Given the description of an element on the screen output the (x, y) to click on. 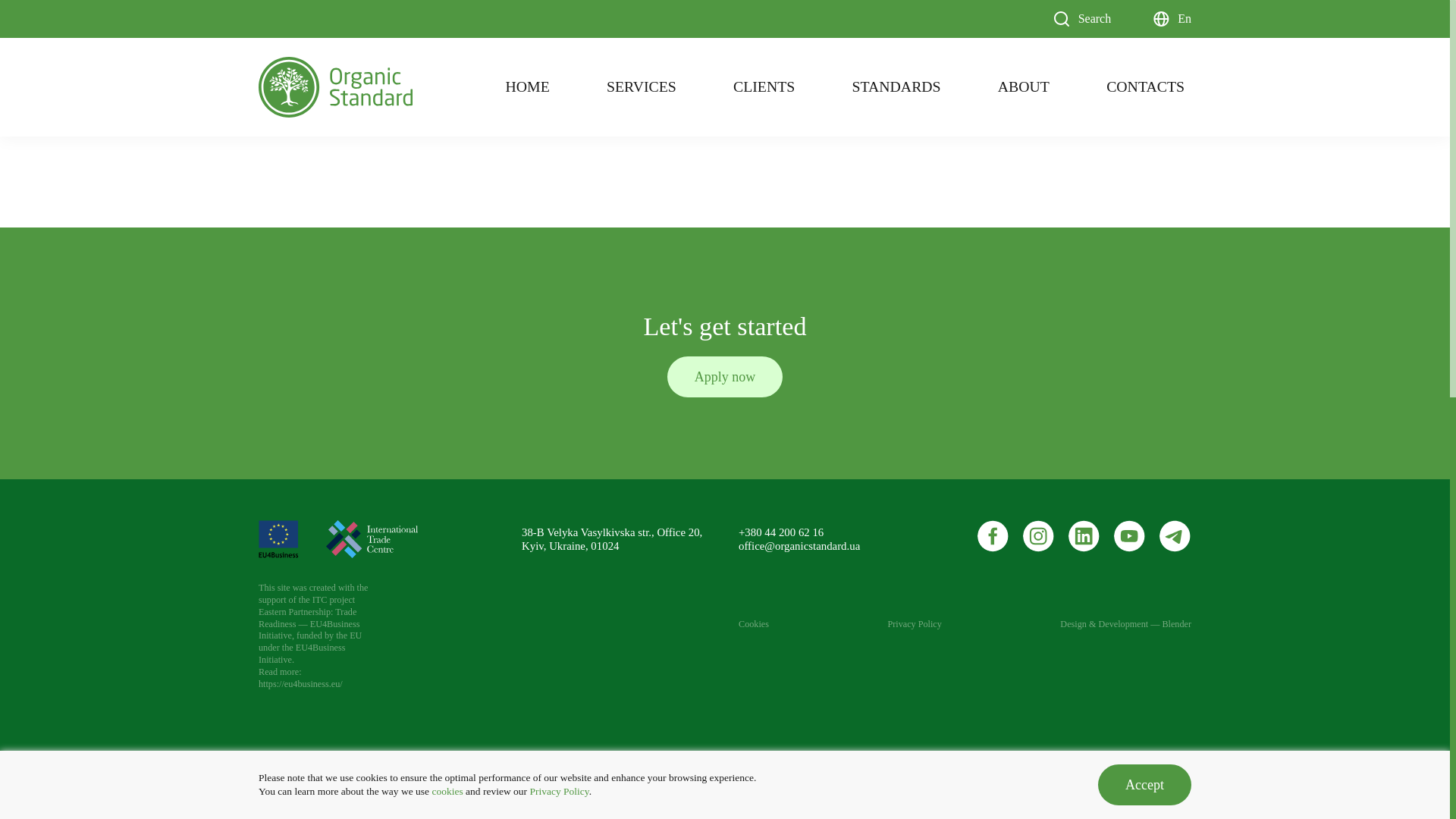
Import and Export (675, 100)
Crop Production (342, 4)
Wild Collection (508, 4)
Apply now (724, 376)
Feed Production (342, 100)
Beekeeping (675, 4)
Trading Activity (508, 100)
Instagram (1038, 536)
LinkedIn (1084, 536)
YouTube (1129, 536)
